Given the description of an element on the screen output the (x, y) to click on. 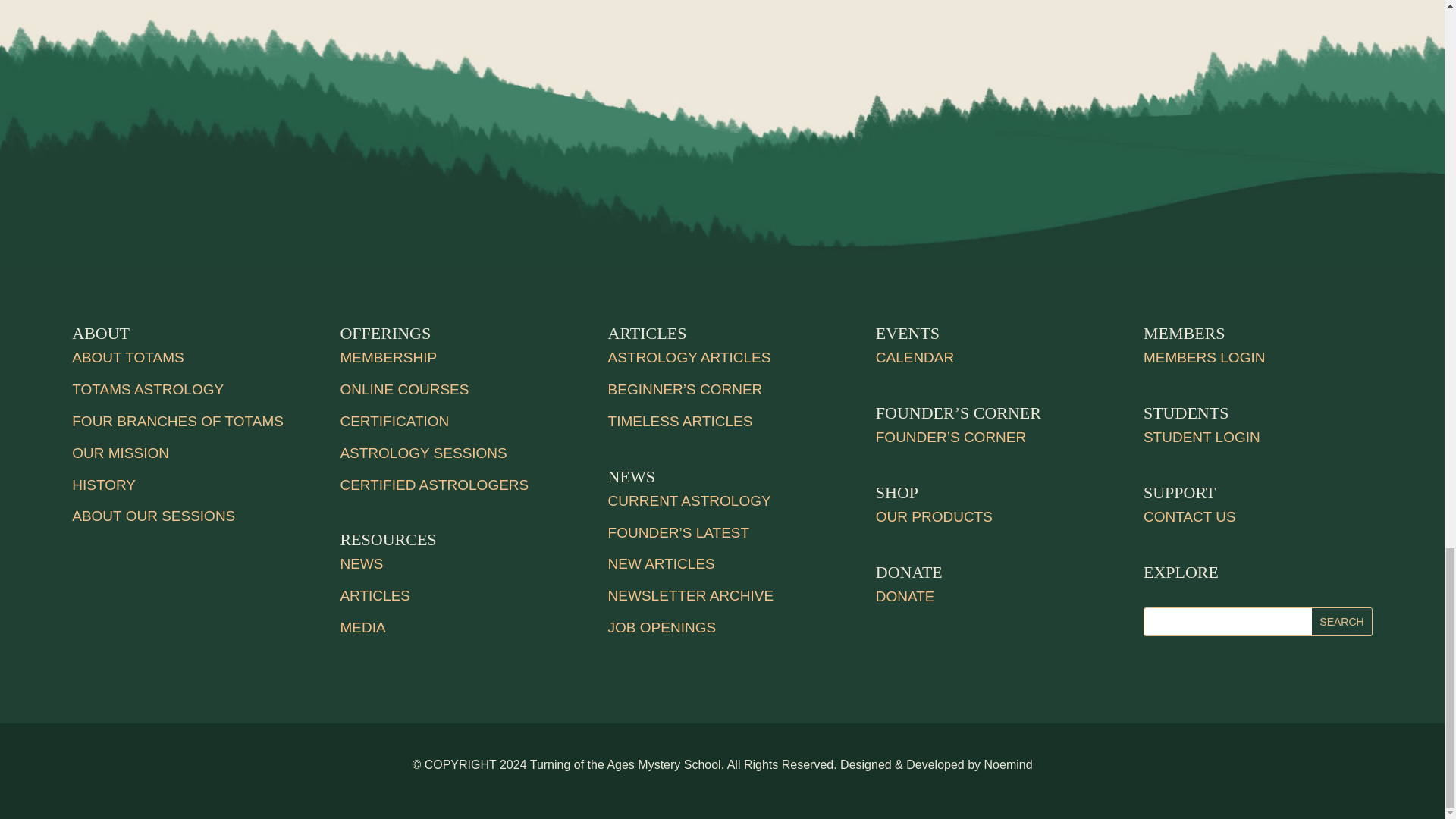
Search (1341, 621)
Search (1341, 621)
